Given the description of an element on the screen output the (x, y) to click on. 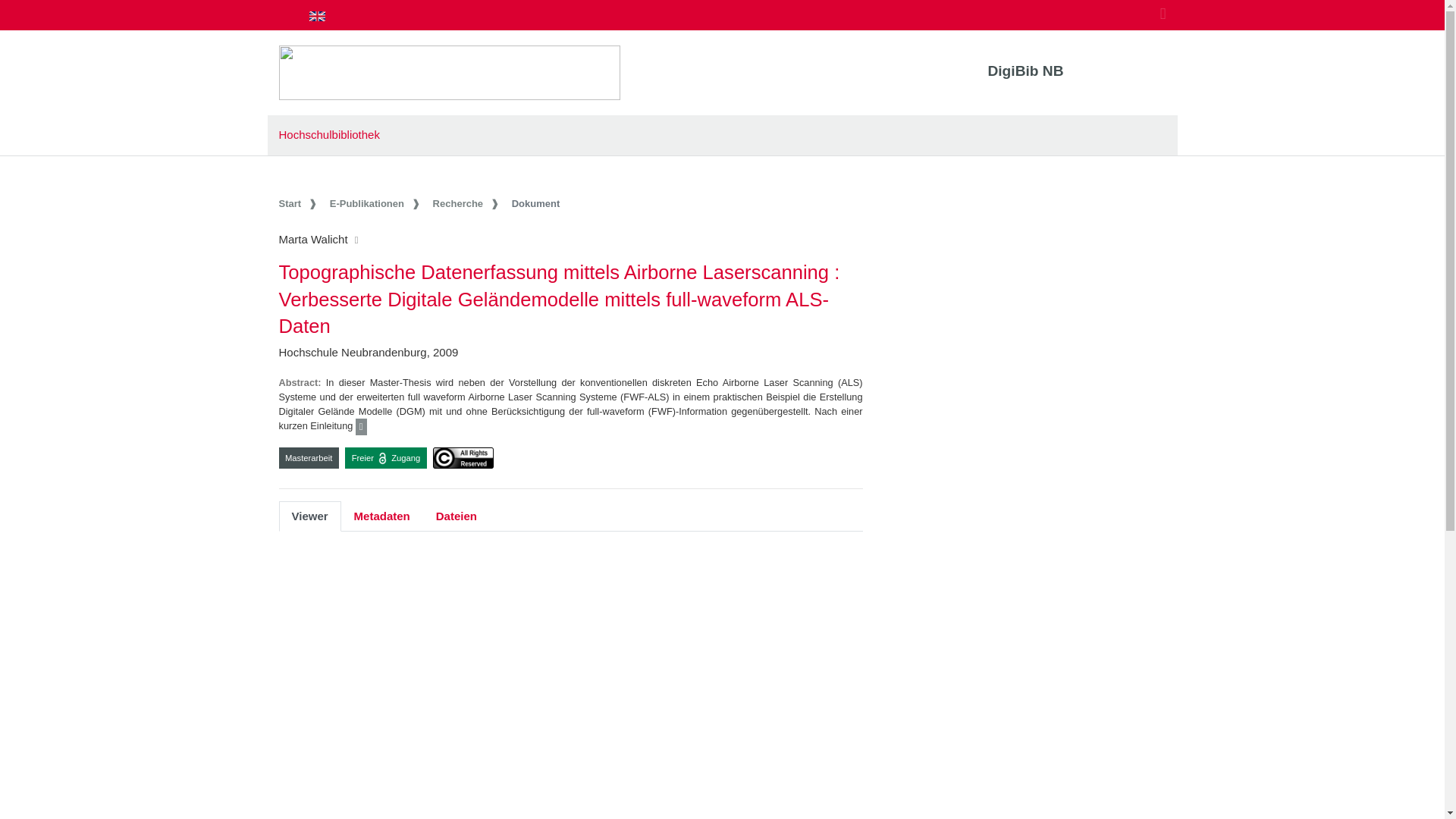
Metadaten (381, 516)
Viewer (309, 516)
Dateien (456, 516)
E-Publikationen (376, 202)
Start (300, 202)
DigiBib NB (1024, 70)
Recherche (467, 202)
Hochschulbibliothek (329, 133)
page in English (316, 15)
